Given the description of an element on the screen output the (x, y) to click on. 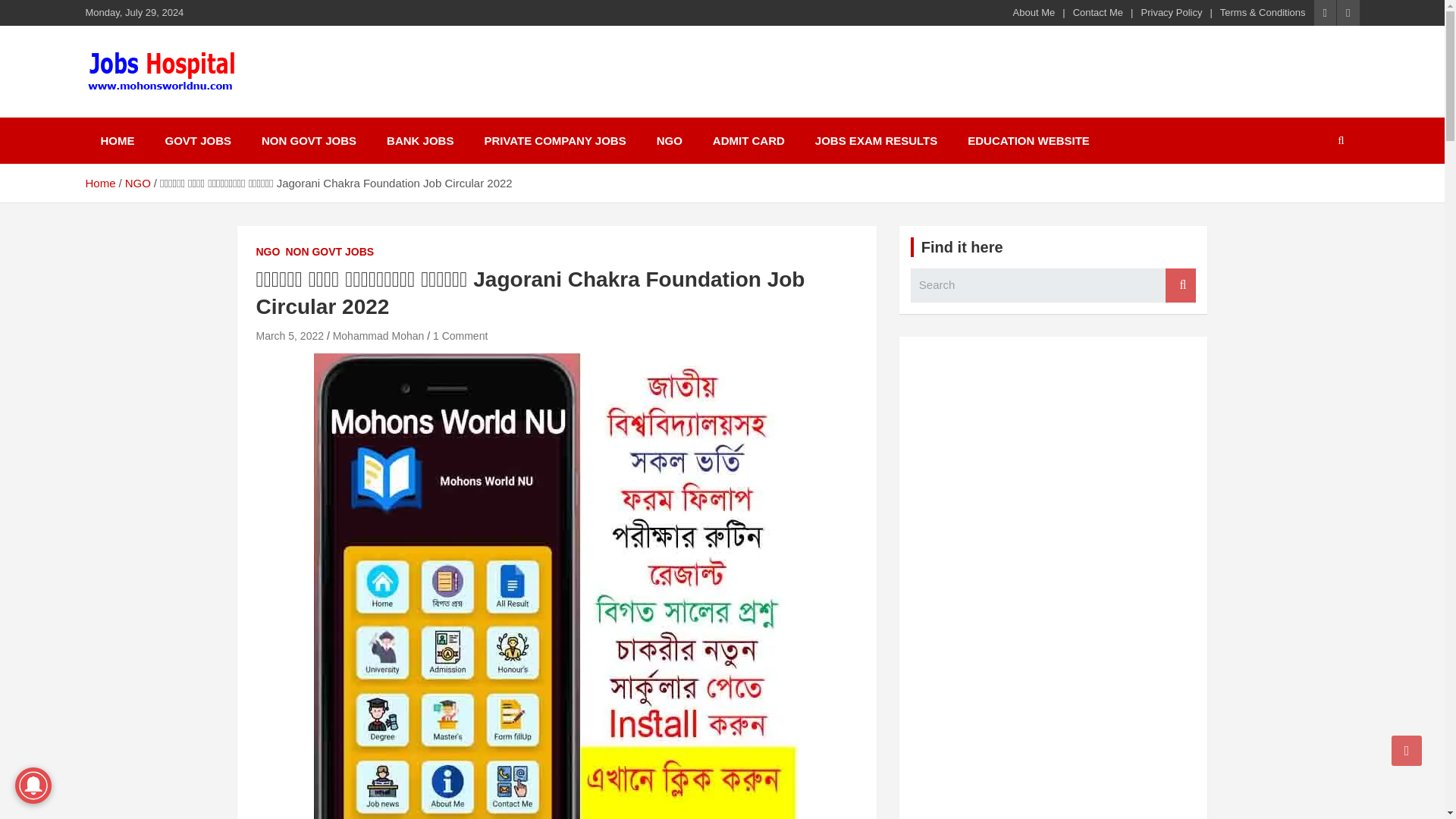
Contact Me (1097, 12)
NON GOVT JOBS (308, 140)
NGO (669, 140)
Govt. job circular (209, 114)
About Me (1034, 12)
March 5, 2022 (290, 336)
1 Comment (459, 336)
PRIVATE COMPANY JOBS (554, 140)
NGO (268, 252)
Mohammad Mohan (379, 336)
NGO (138, 182)
Home (99, 182)
GOVT JOBS (198, 140)
ADMIT CARD (748, 140)
Advertisement (1053, 710)
